Given the description of an element on the screen output the (x, y) to click on. 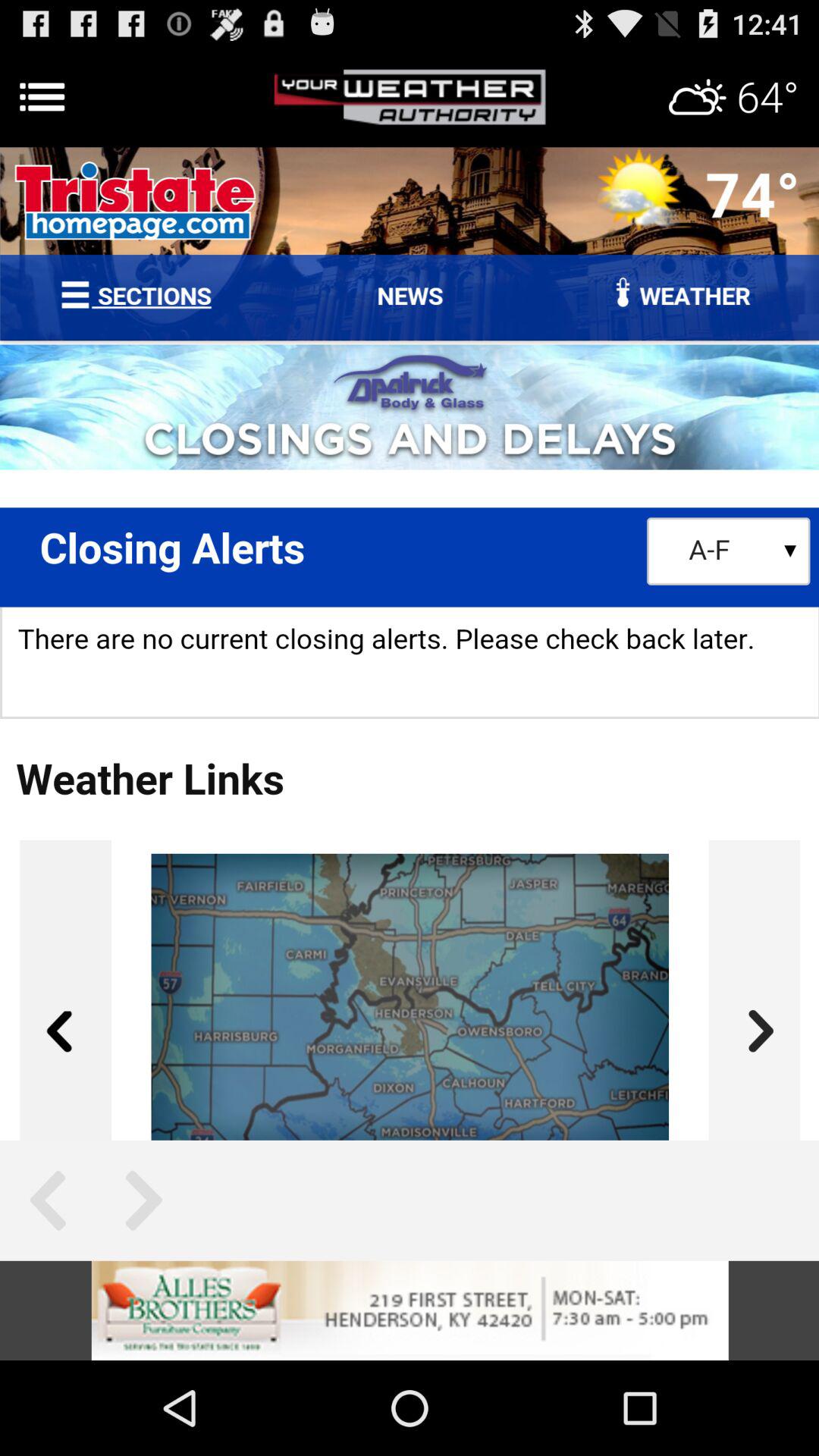
advertisement link (409, 1310)
